Given the description of an element on the screen output the (x, y) to click on. 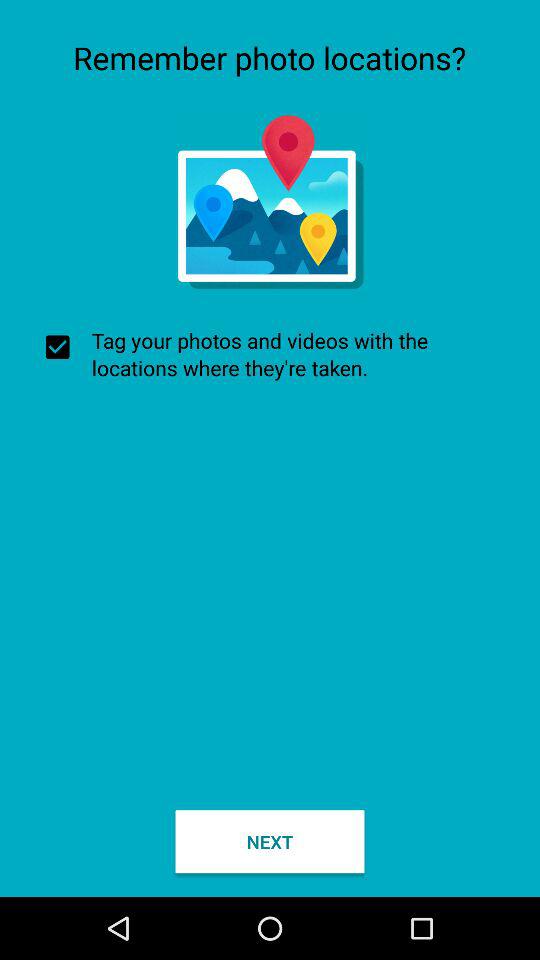
launch the checkbox below tag your photos (269, 841)
